Given the description of an element on the screen output the (x, y) to click on. 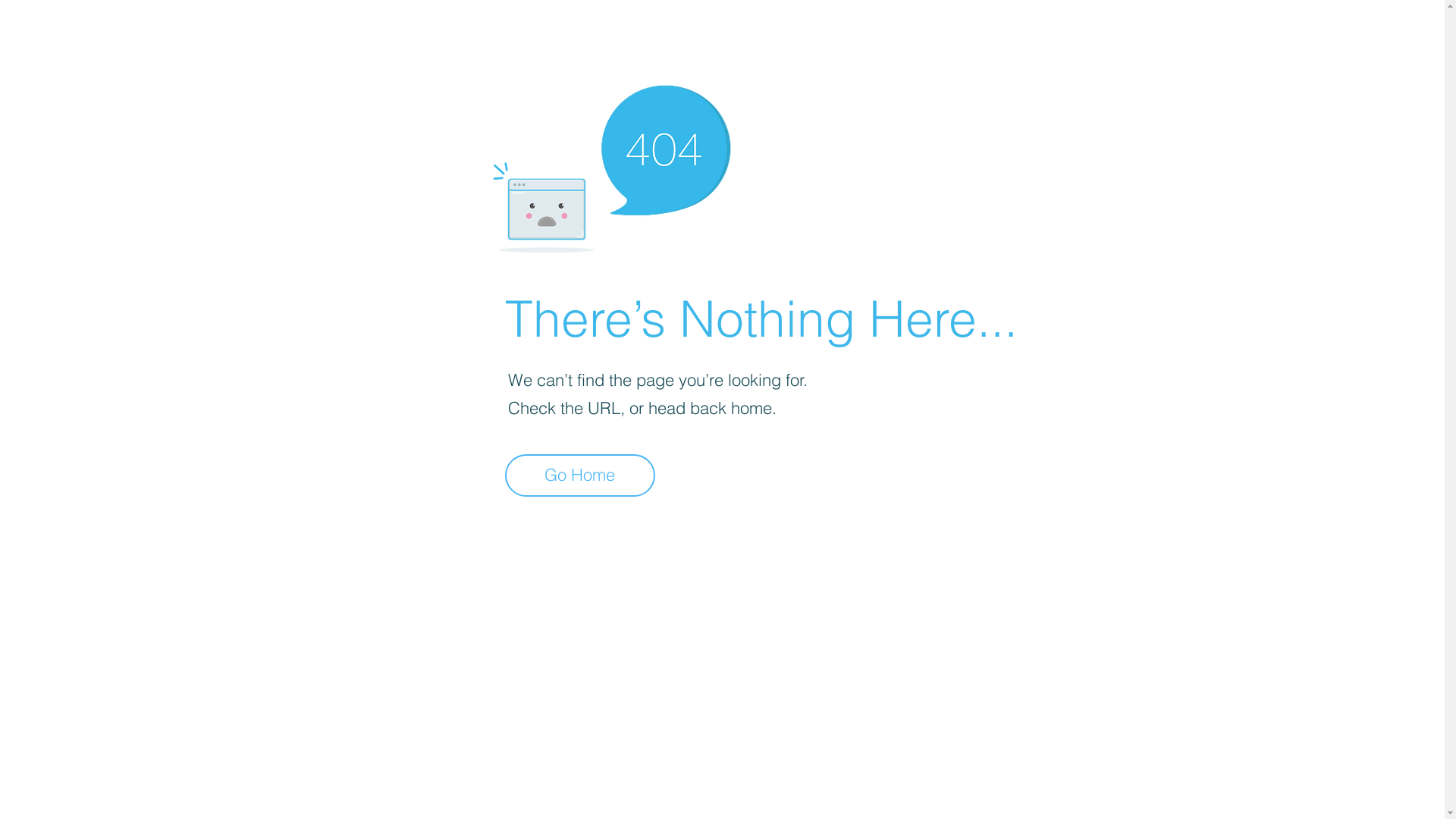
404-icon_2.png Element type: hover (610, 164)
Go Home Element type: text (580, 475)
